Given the description of an element on the screen output the (x, y) to click on. 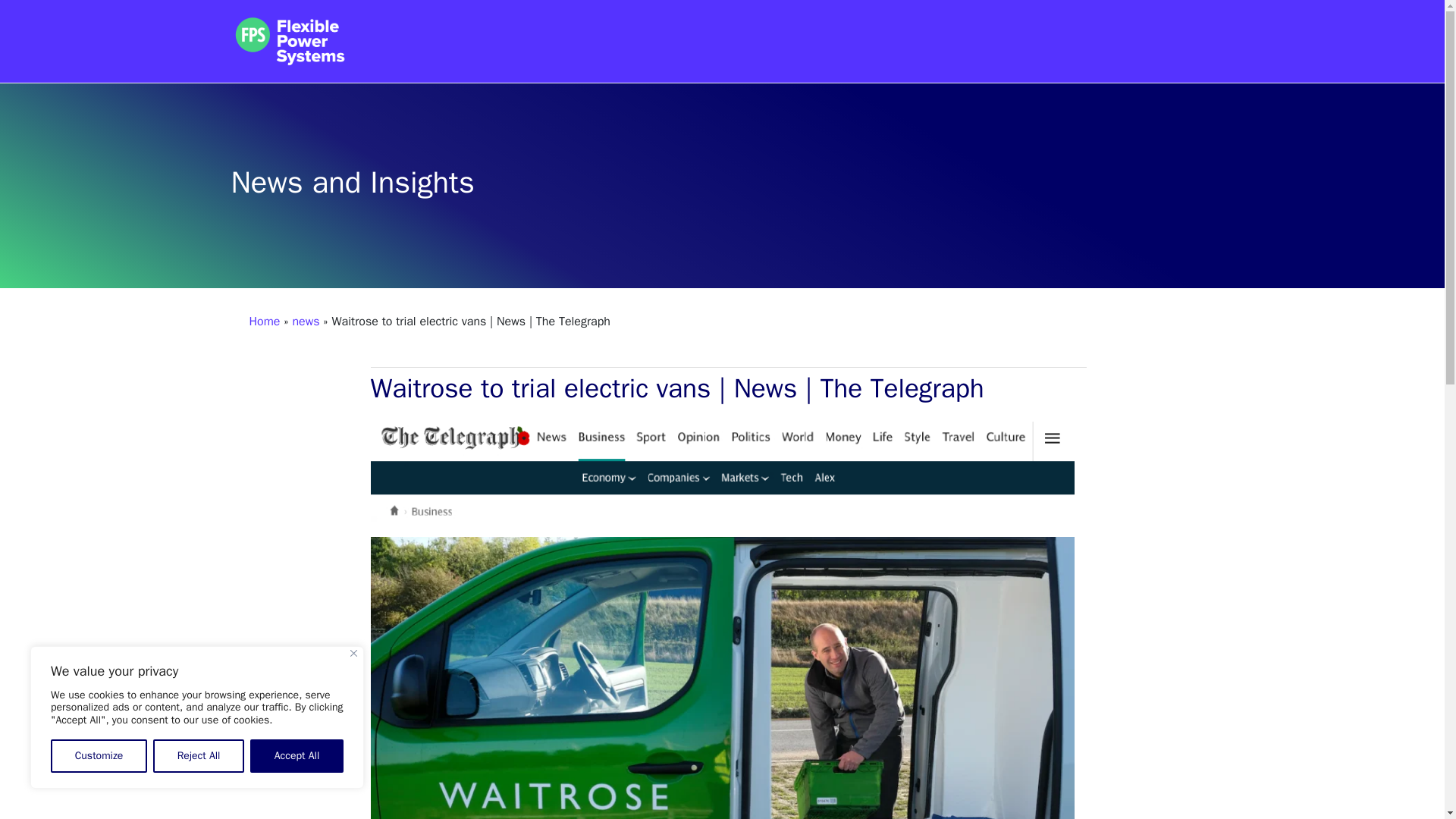
Home (263, 321)
Customize (98, 756)
Accept All (296, 756)
Reject All (198, 756)
news (305, 321)
